Given the description of an element on the screen output the (x, y) to click on. 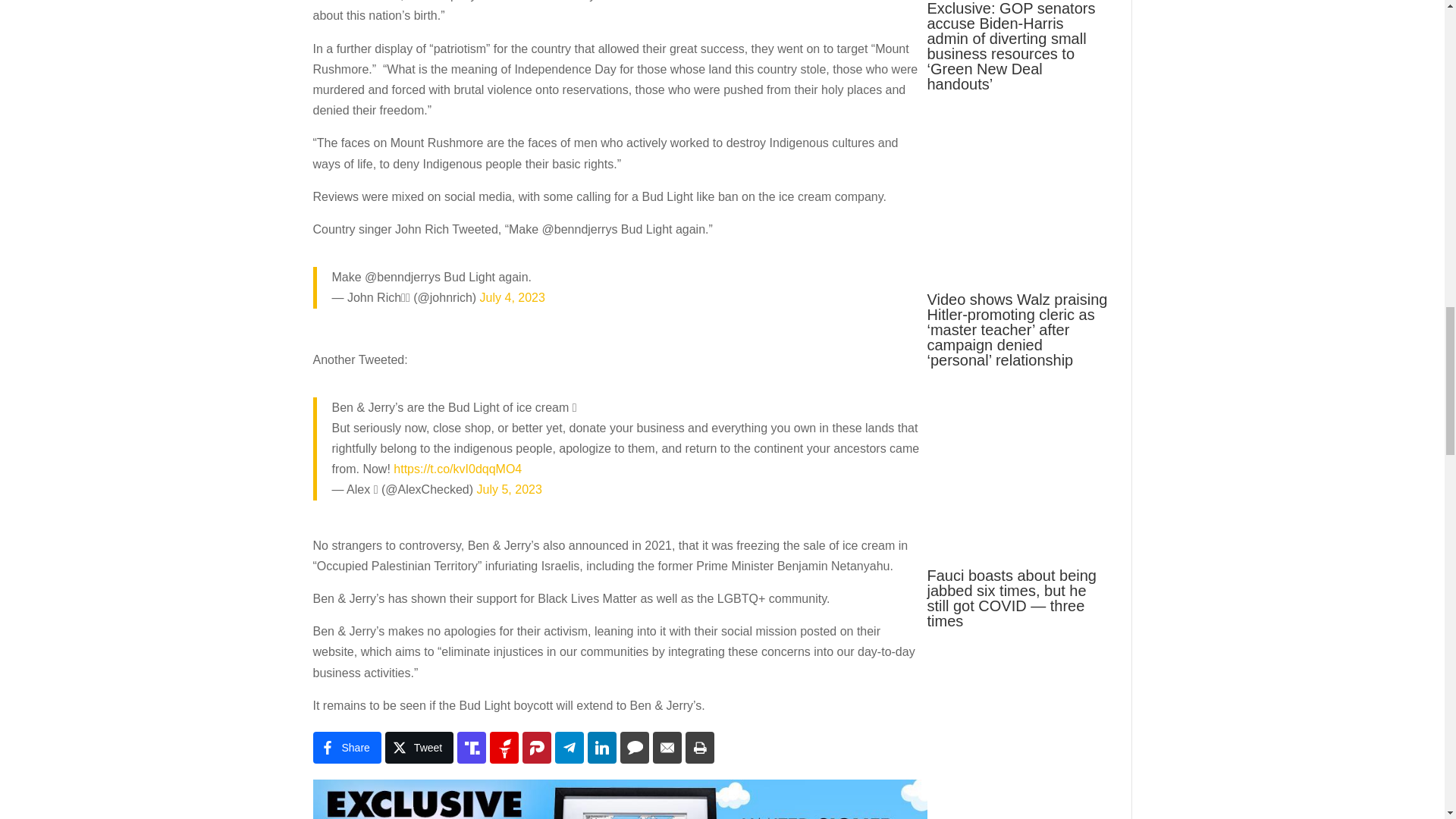
Share on Share (346, 747)
Share (346, 747)
Tweet (418, 747)
July 5, 2023 (509, 489)
July 4, 2023 (512, 297)
